Given the description of an element on the screen output the (x, y) to click on. 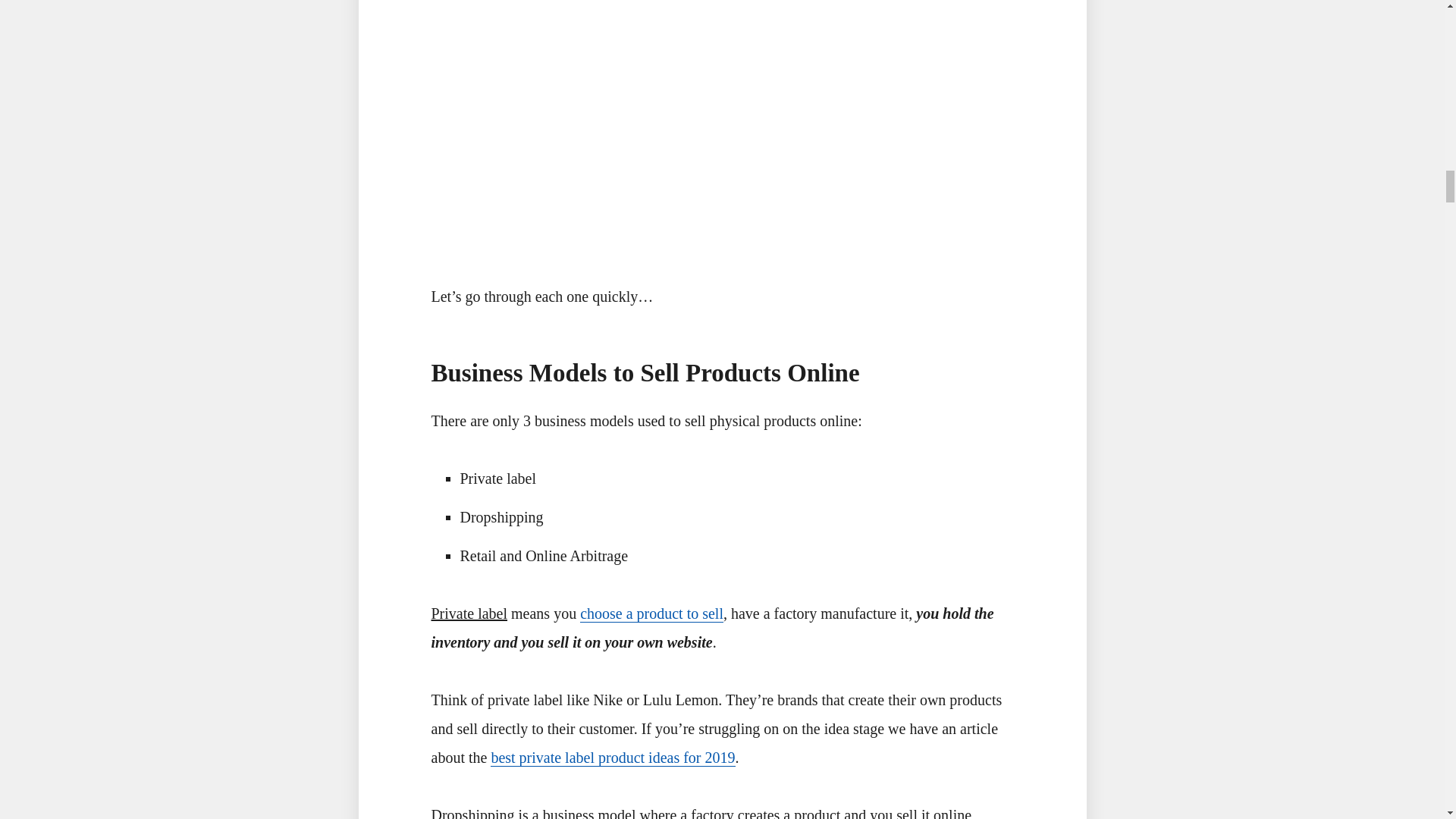
choose a product to sell (651, 613)
best private label product ideas for 2019 (612, 757)
